Given the description of an element on the screen output the (x, y) to click on. 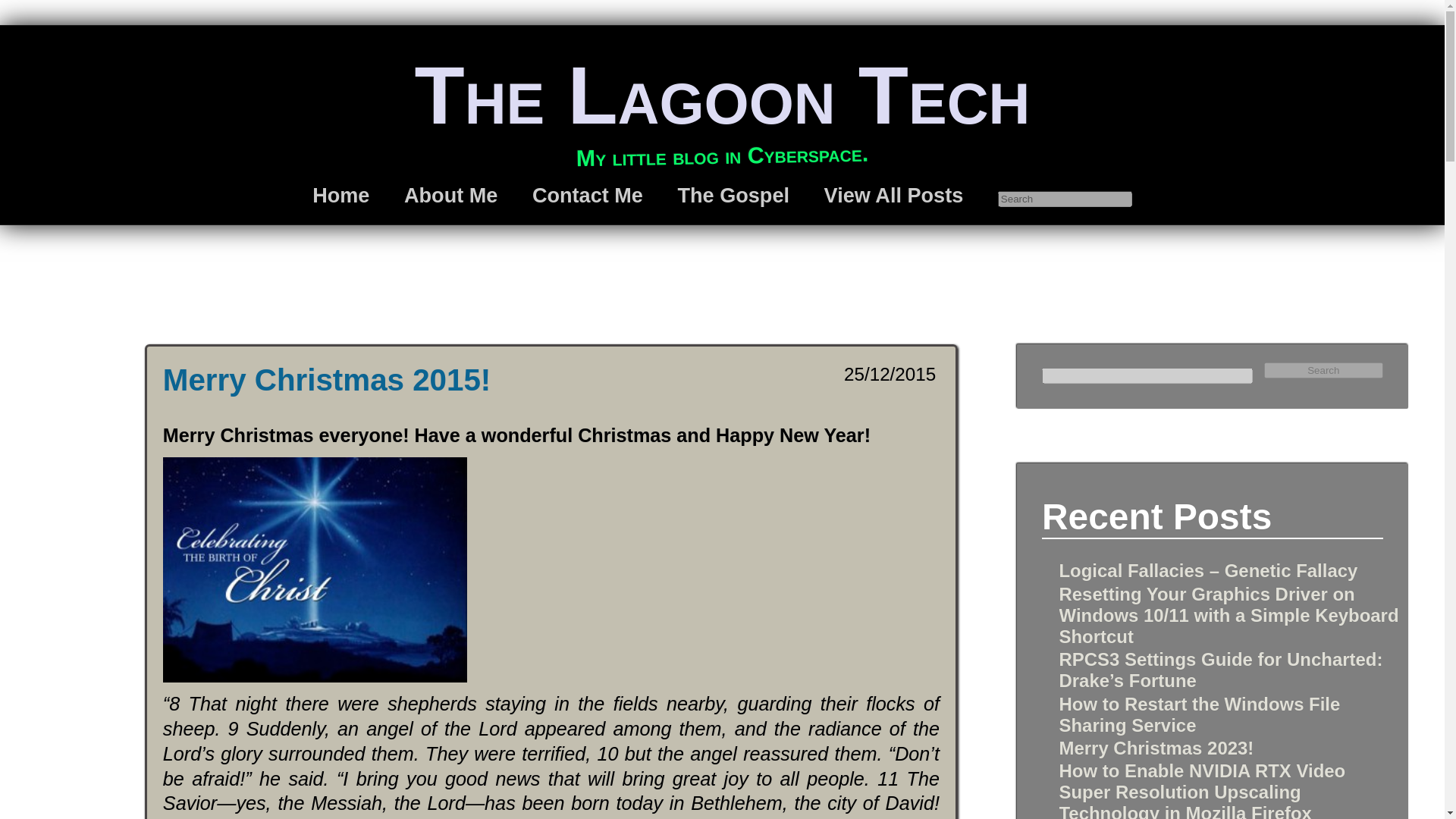
How to Restart the Windows File Sharing Service (1198, 714)
About Me (450, 195)
Search (1323, 370)
Merry Christmas 2015! (326, 379)
Contact Me (587, 195)
Home (341, 195)
Search (1323, 370)
Merry Christmas 2023! (1155, 747)
View All Posts (893, 195)
